Given the description of an element on the screen output the (x, y) to click on. 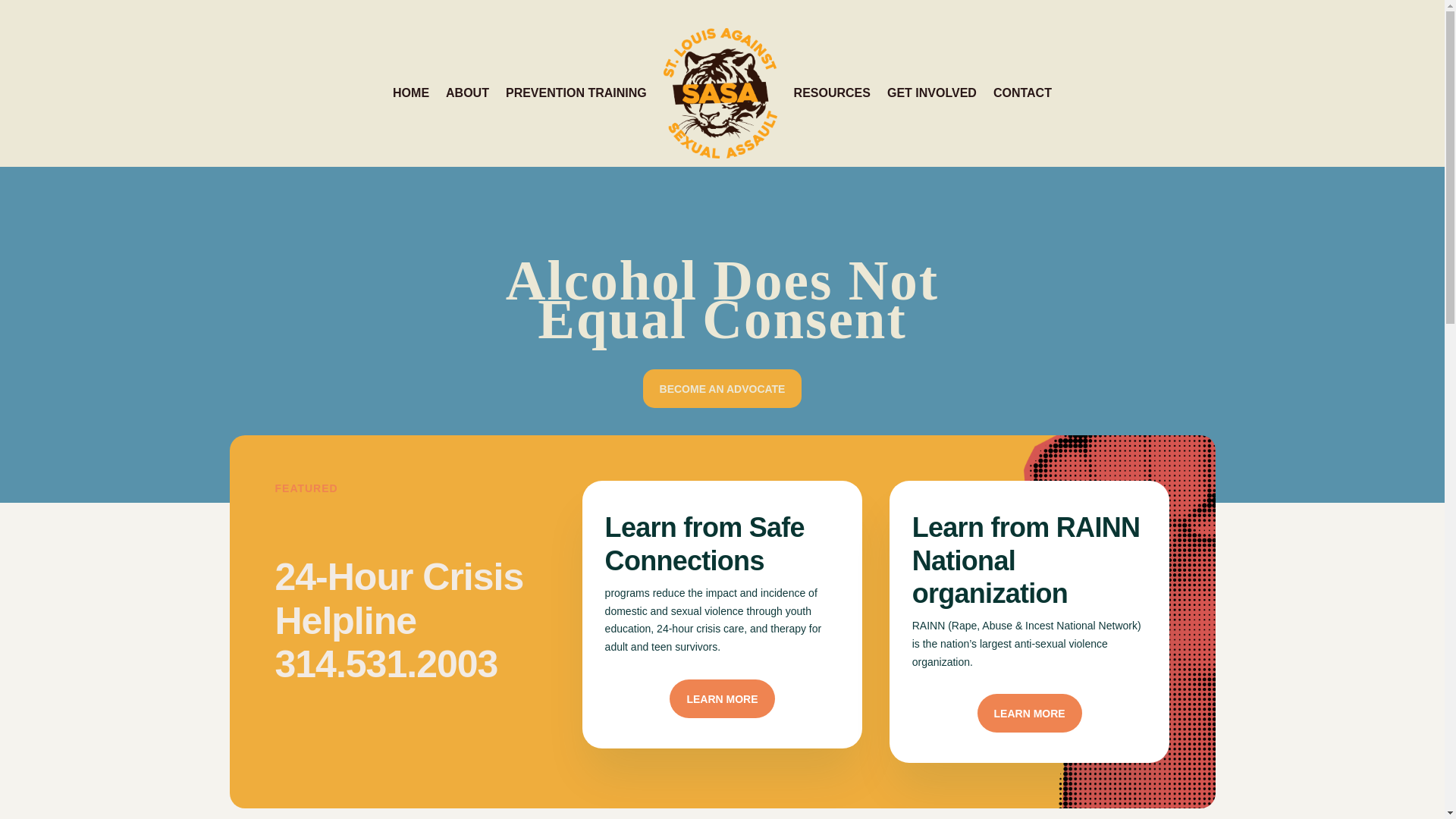
LEARN MORE (721, 698)
LEARN MORE (1028, 712)
BECOME AN ADVOCATE (722, 388)
PREVENTION TRAINING (575, 92)
